Given the description of an element on the screen output the (x, y) to click on. 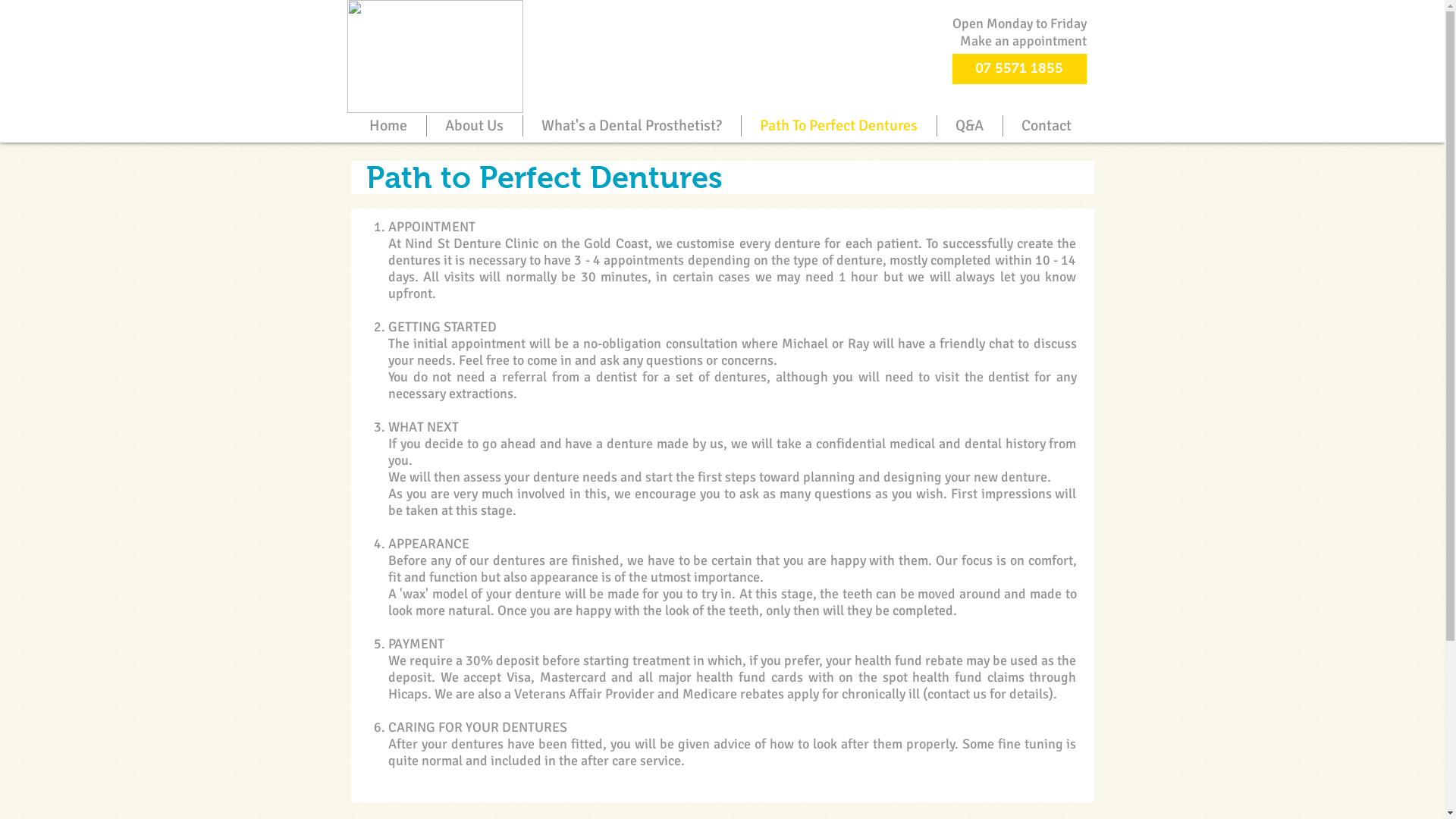
About Us Element type: text (473, 125)
What's a Dental Prosthetist? Element type: text (631, 125)
07 5571 1855 Element type: text (1019, 68)
NindStDentureClinicLogo_250px_websitelogo.png Element type: hover (435, 56)
Path To Perfect Dentures Element type: text (838, 125)
Q&A Element type: text (969, 125)
Home Element type: text (387, 125)
Contact Element type: text (1045, 125)
